Given the description of an element on the screen output the (x, y) to click on. 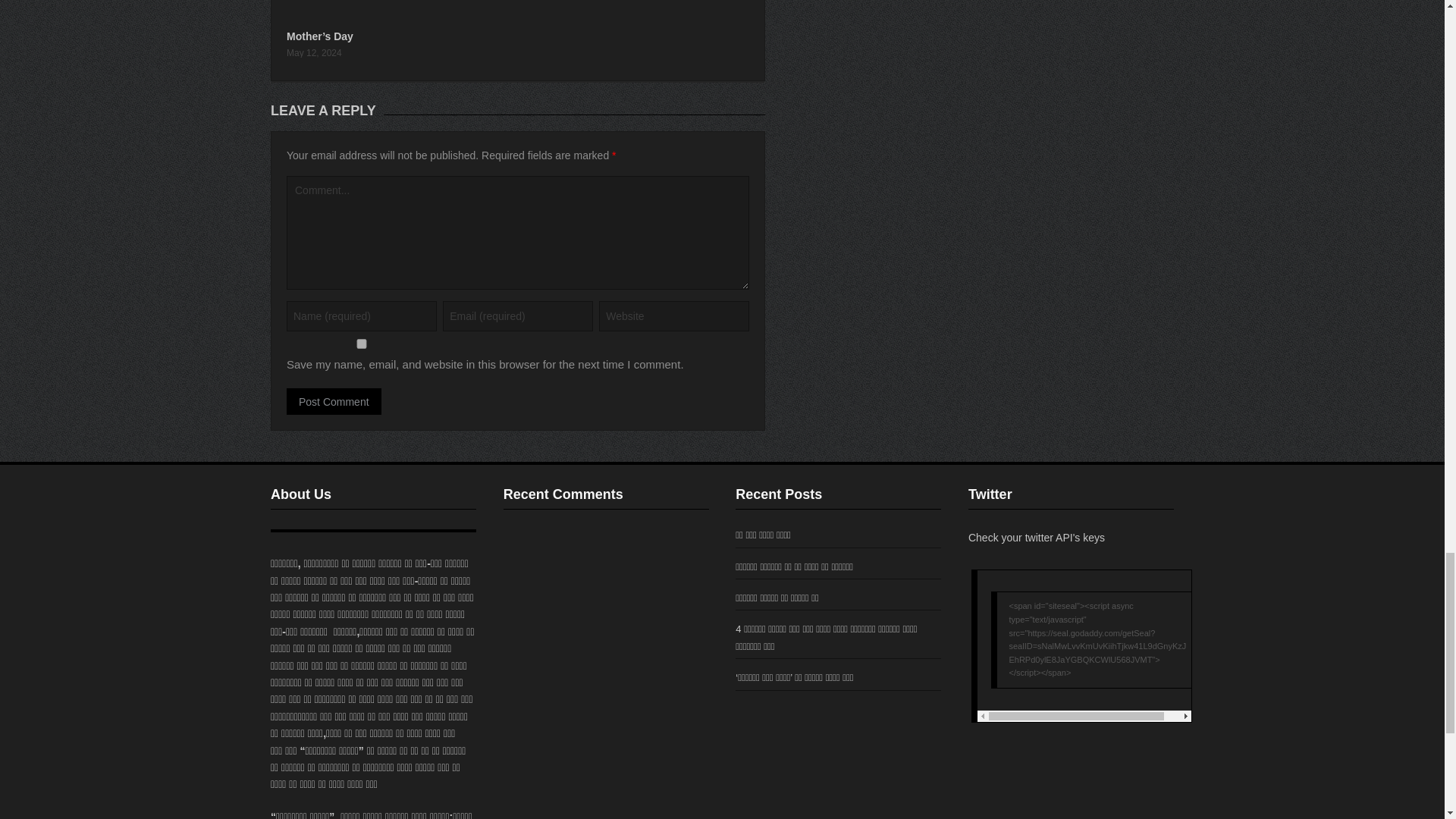
Post Comment (333, 401)
yes (361, 343)
